Given the description of an element on the screen output the (x, y) to click on. 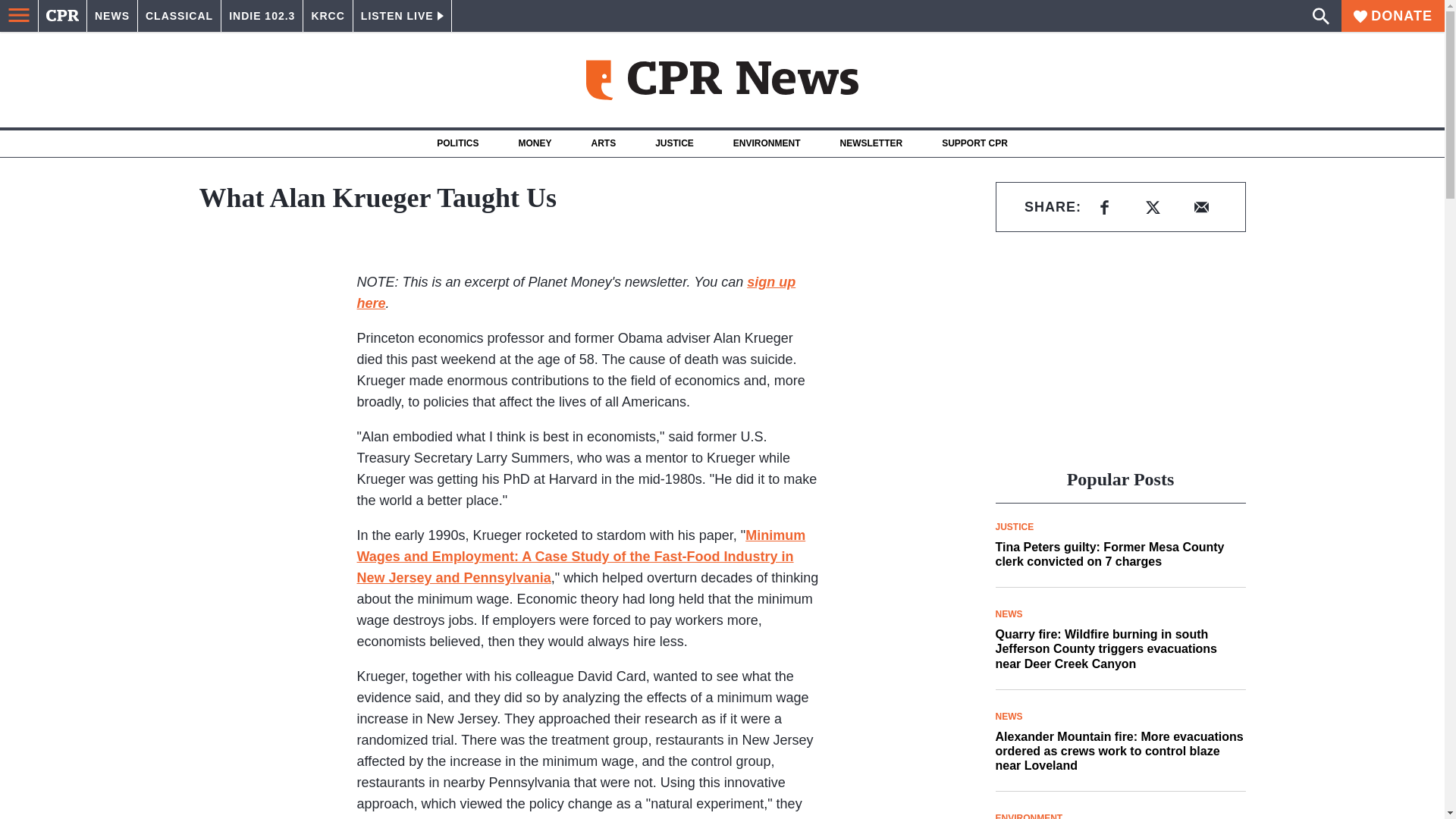
NEWS (111, 15)
INDIE 102.3 (261, 15)
KRCC (327, 15)
CLASSICAL (179, 15)
LISTEN LIVE (402, 15)
